Given the description of an element on the screen output the (x, y) to click on. 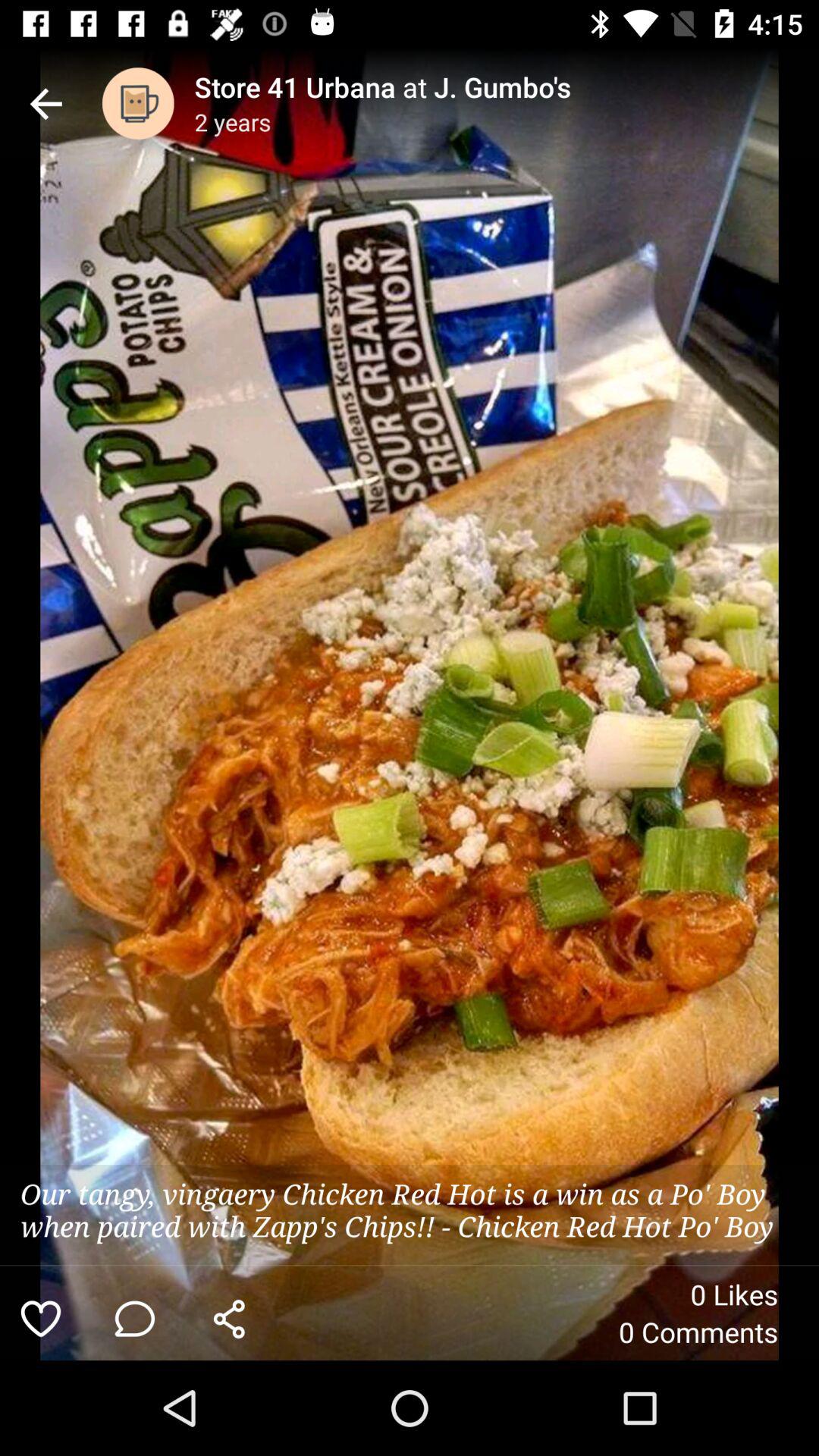
select store 41 urbana item (506, 86)
